Given the description of an element on the screen output the (x, y) to click on. 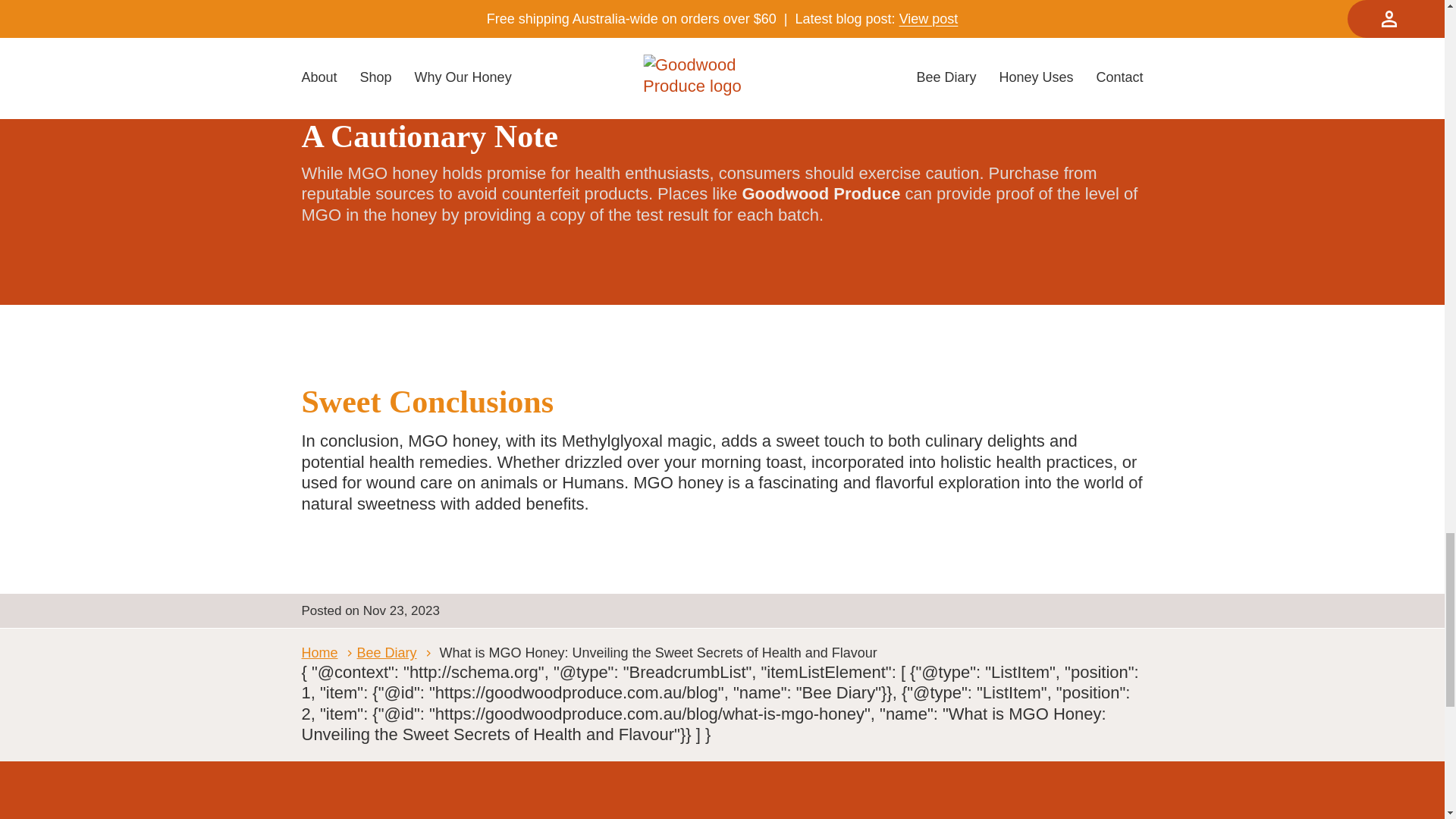
Home (328, 652)
Goodwood Produce (820, 193)
Bee Diary (395, 652)
Goodwood Produce (911, 48)
